Given the description of an element on the screen output the (x, y) to click on. 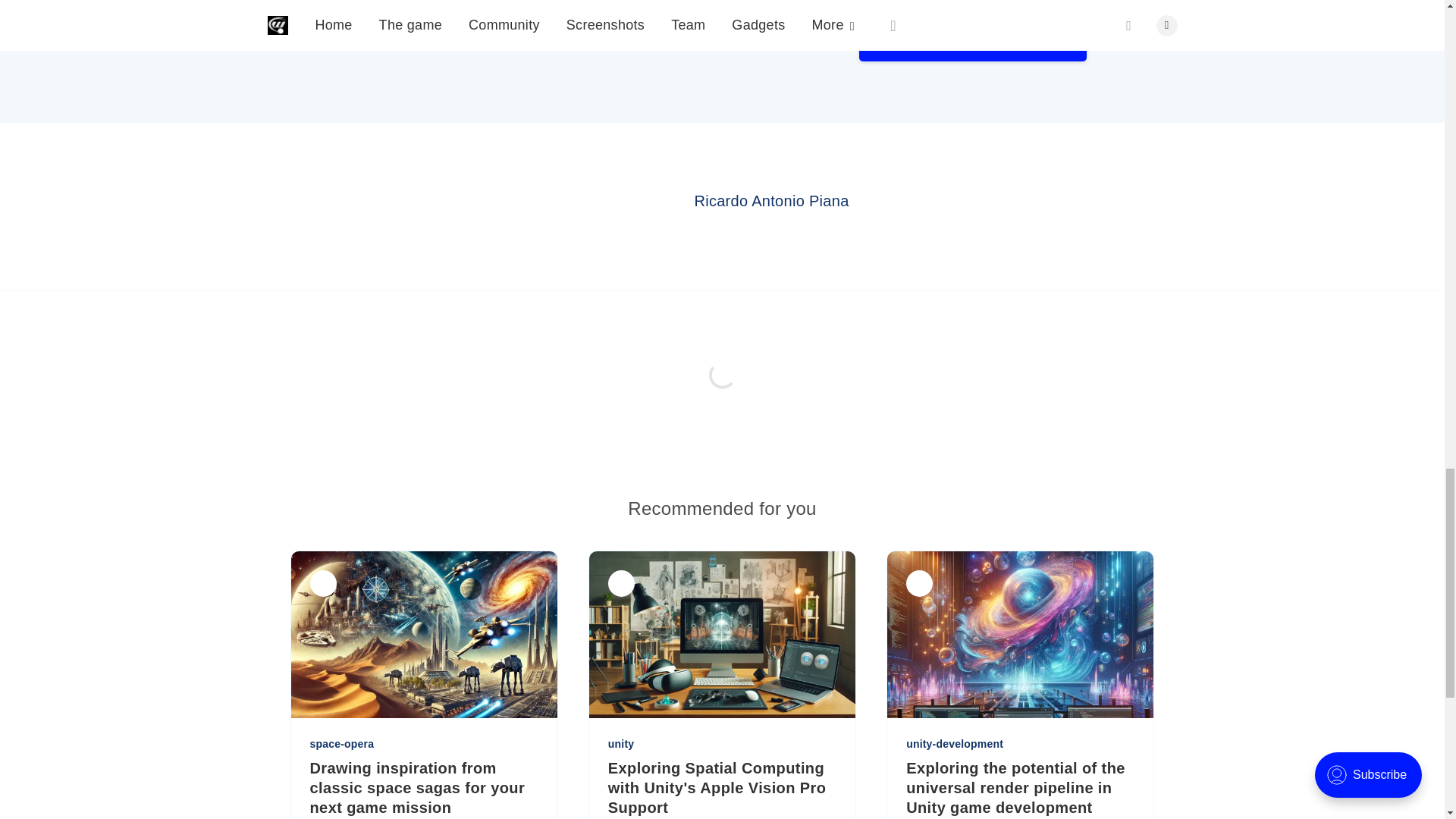
comments-frame (721, 393)
